Given the description of an element on the screen output the (x, y) to click on. 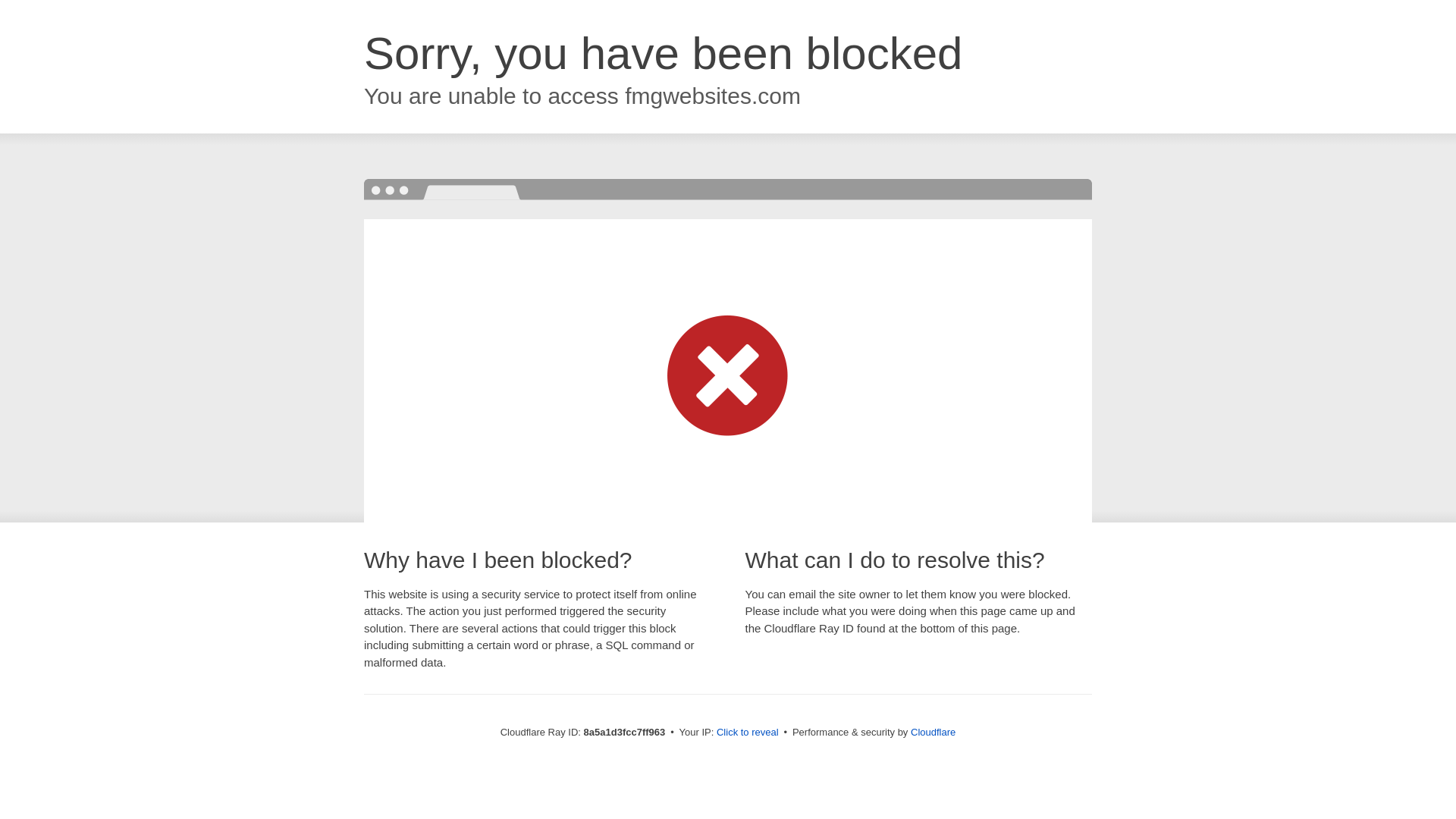
Click to reveal (747, 732)
Cloudflare (933, 731)
